Given the description of an element on the screen output the (x, y) to click on. 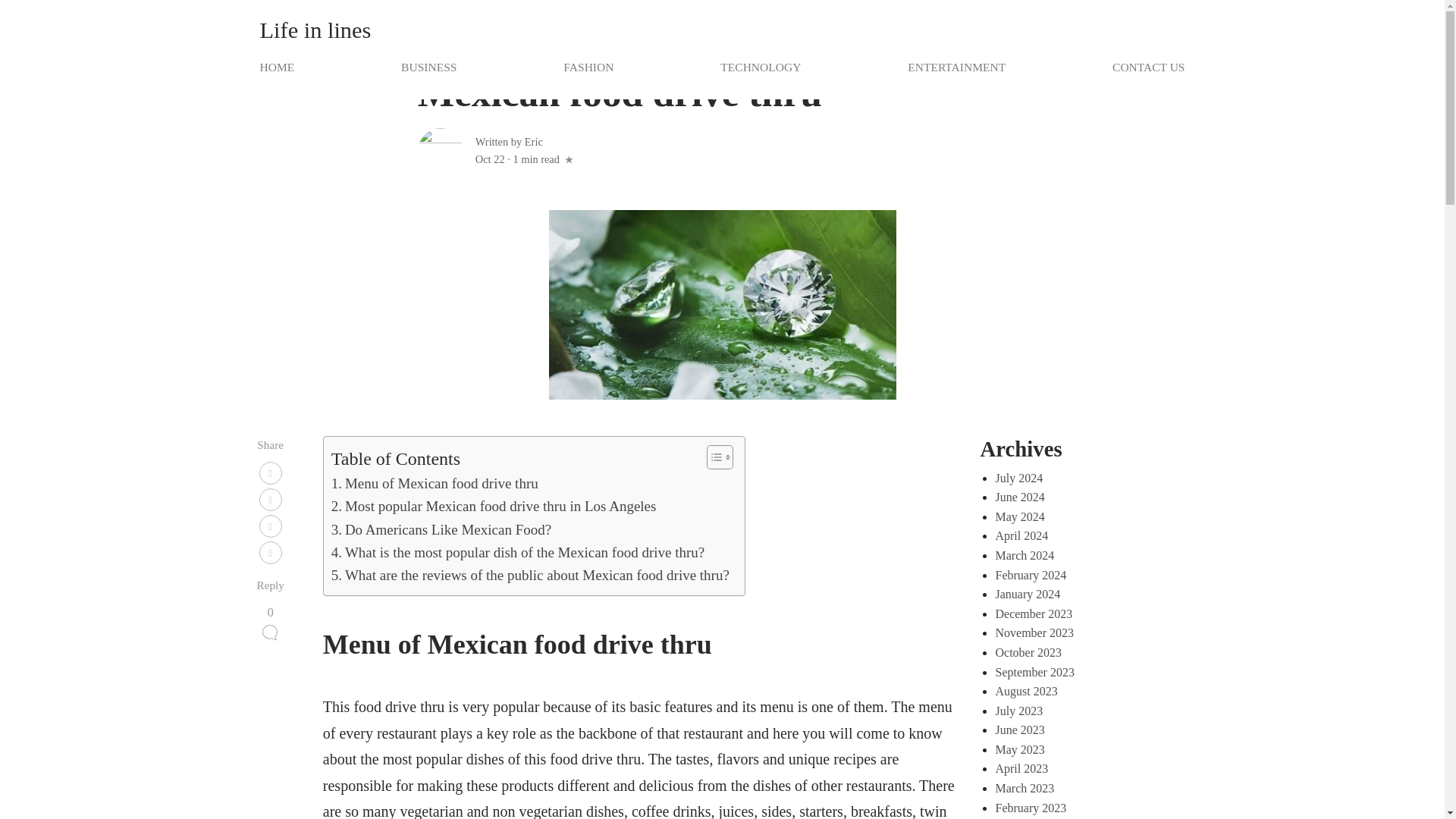
FOOD (434, 48)
Most popular Mexican food drive thru in Los Angeles (493, 506)
October 2023 (1027, 652)
HOME (279, 67)
Menu of Mexican food drive thru (434, 483)
April 2024 (1021, 535)
Life in lines (315, 30)
February 2024 (1029, 574)
July 2024 (1018, 477)
December 2023 (1032, 613)
January 2024 (1026, 594)
September 2023 (1034, 671)
Written by Eric (509, 141)
Do Americans Like Mexican Food? (441, 529)
